Given the description of an element on the screen output the (x, y) to click on. 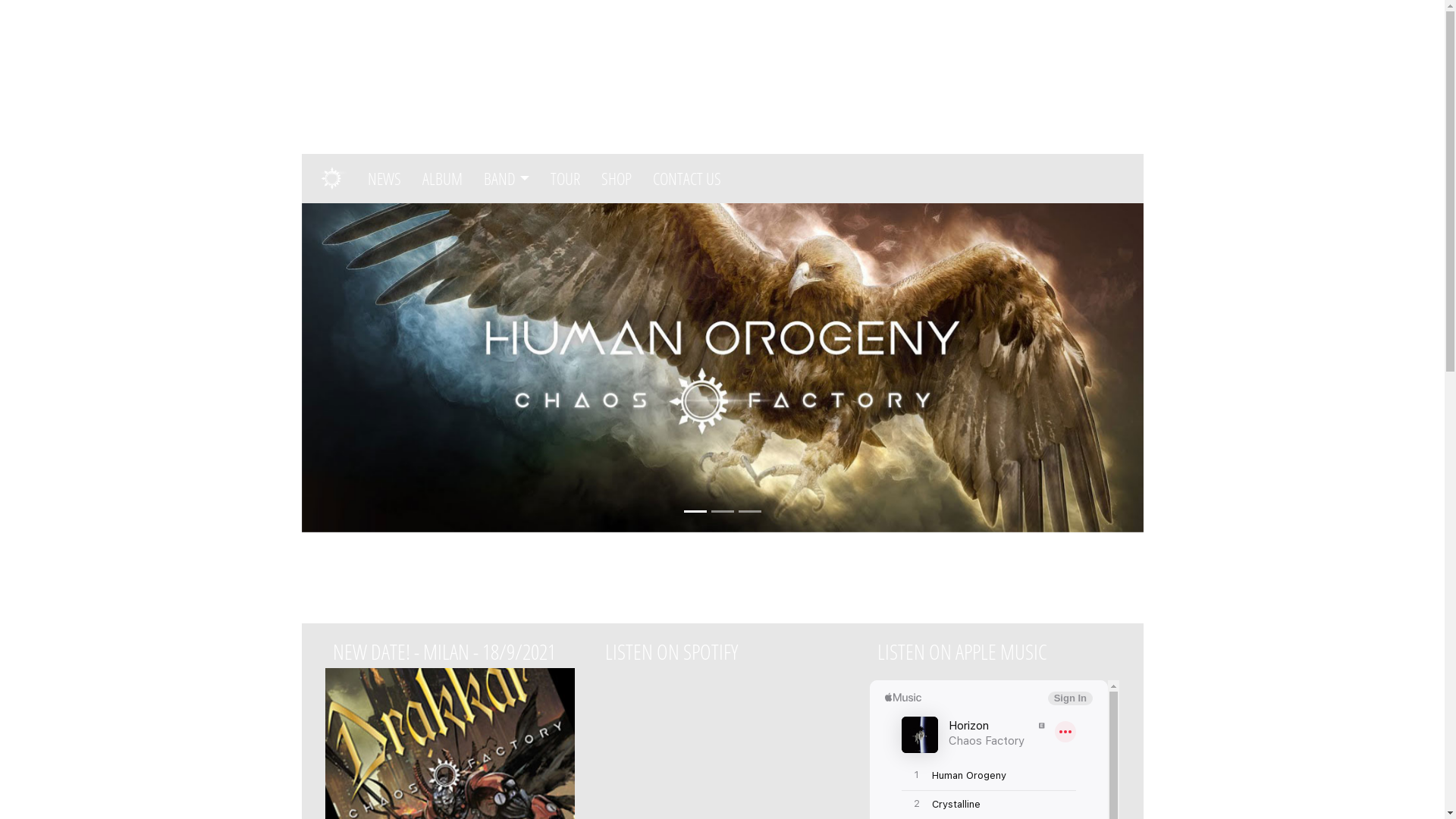
ALBUM Element type: text (446, 178)
NEWS Element type: text (388, 178)
CONTACT US Element type: text (691, 178)
BAND Element type: text (510, 178)
SHOP Element type: text (620, 178)
TOUR Element type: text (569, 178)
